Given the description of an element on the screen output the (x, y) to click on. 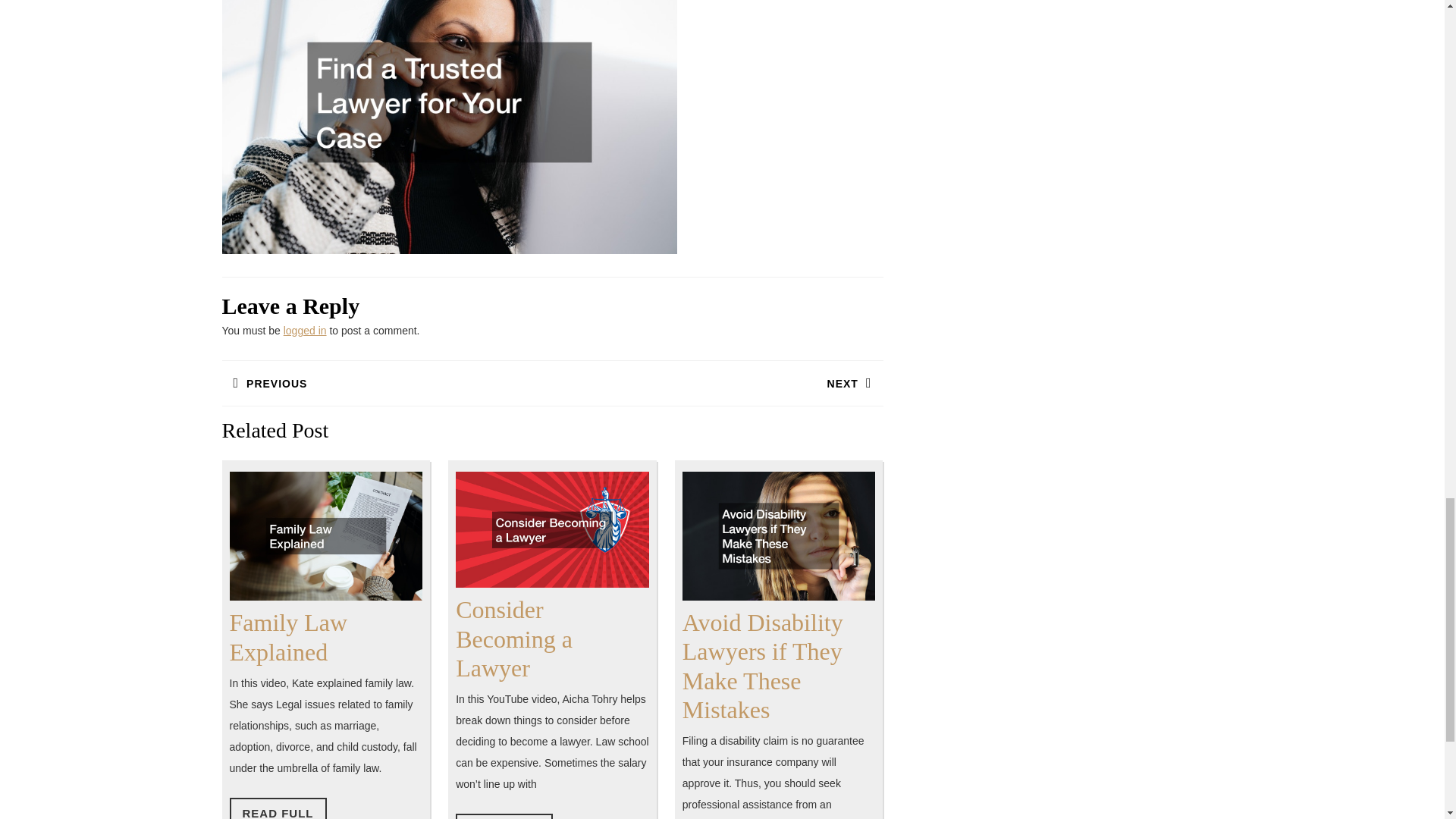
logged in (287, 637)
